Given the description of an element on the screen output the (x, y) to click on. 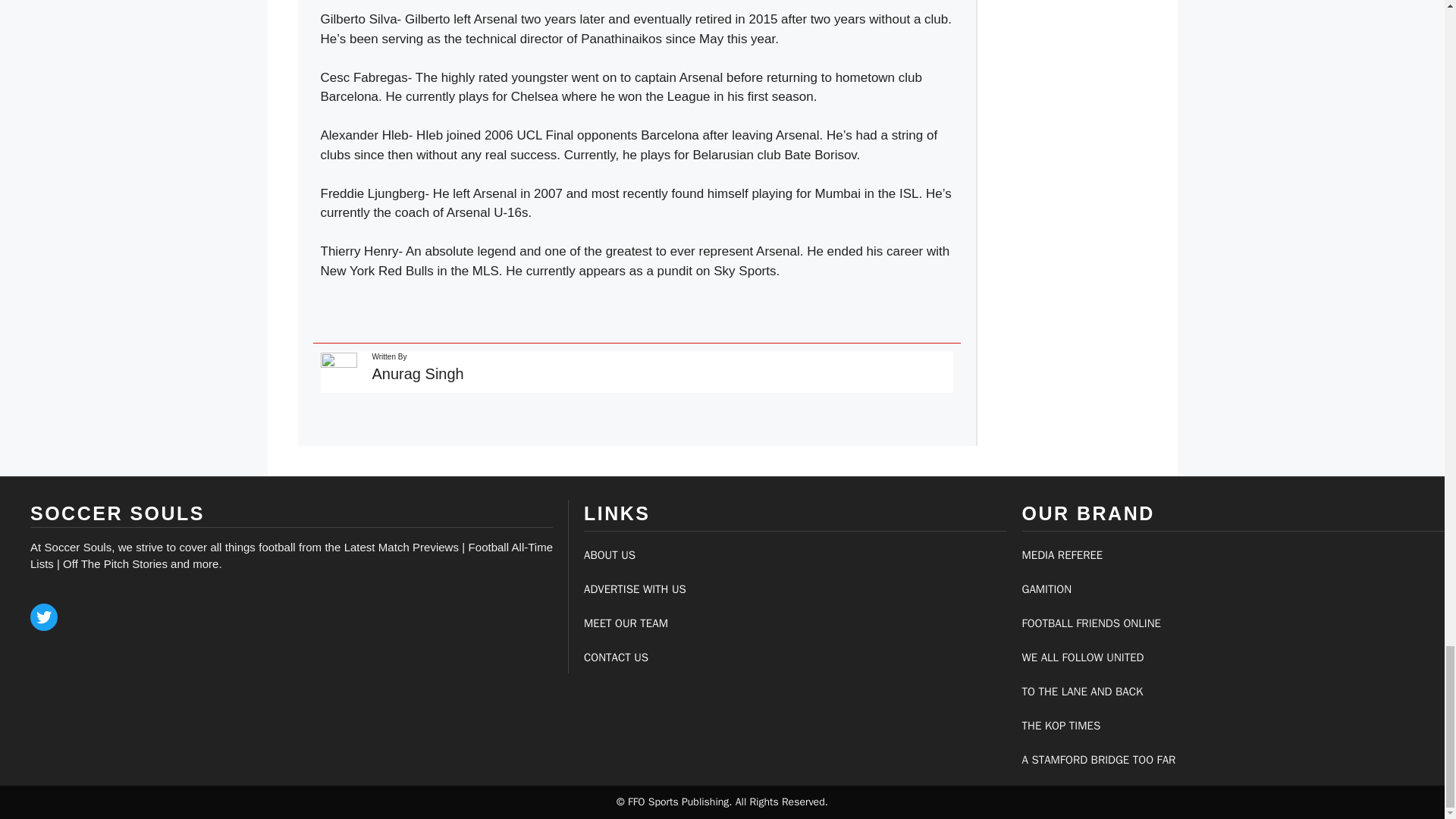
Twitter (44, 616)
MEET OUR TEAM (625, 622)
MEDIA REFEREE (1062, 554)
CONTACT US (615, 657)
ADVERTISE WITH US (634, 589)
A STAMFORD BRIDGE TOO FAR (1099, 759)
GAMITION (1046, 589)
TO THE LANE AND BACK (1082, 691)
WE ALL FOLLOW UNITED (1083, 657)
THE KOP TIMES (1061, 725)
FOOTBALL FRIENDS ONLINE (1091, 622)
Anurag Singh (417, 373)
ABOUT US (608, 554)
